Given the description of an element on the screen output the (x, y) to click on. 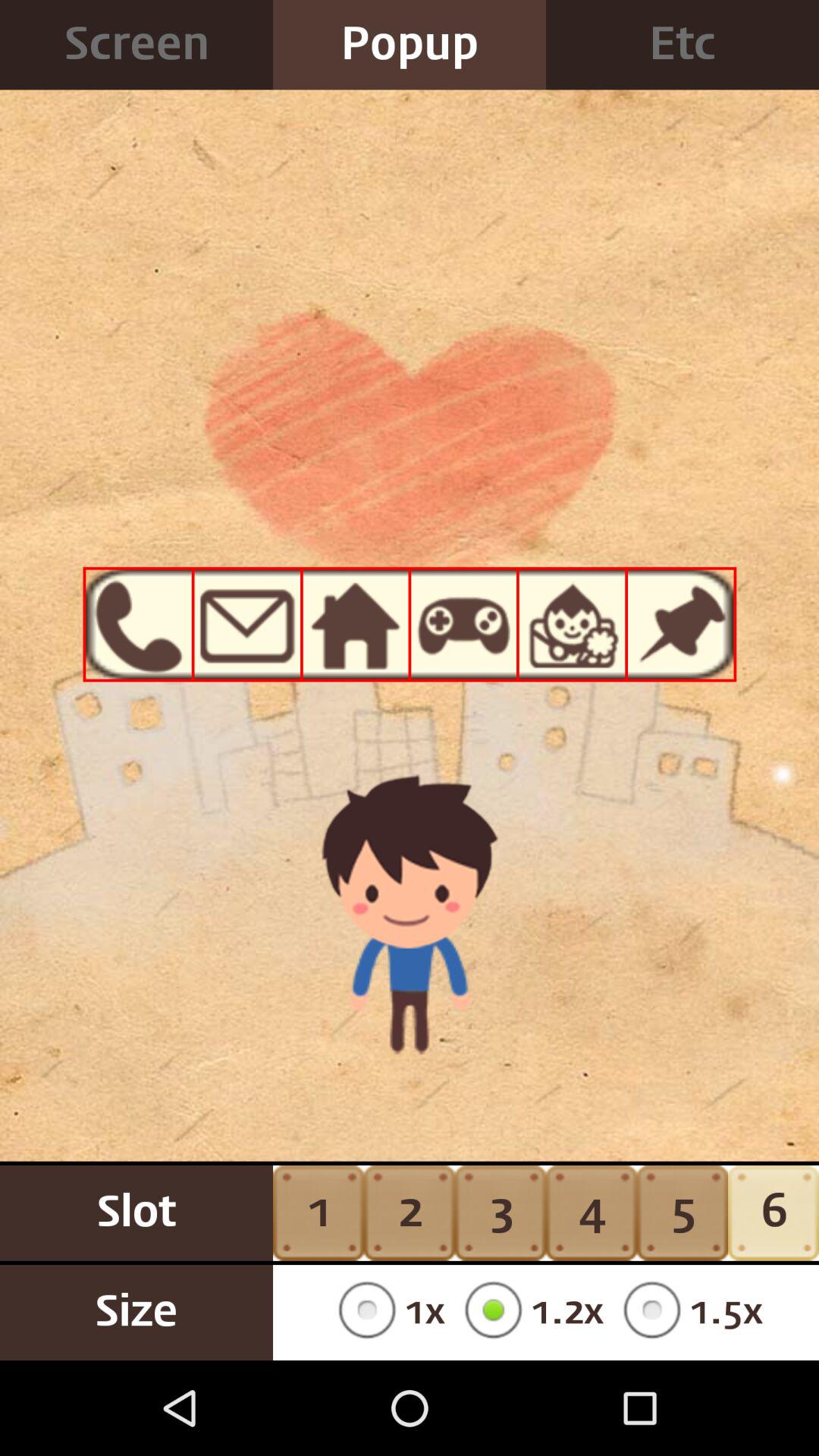
swipe until 6 item (773, 1212)
